Given the description of an element on the screen output the (x, y) to click on. 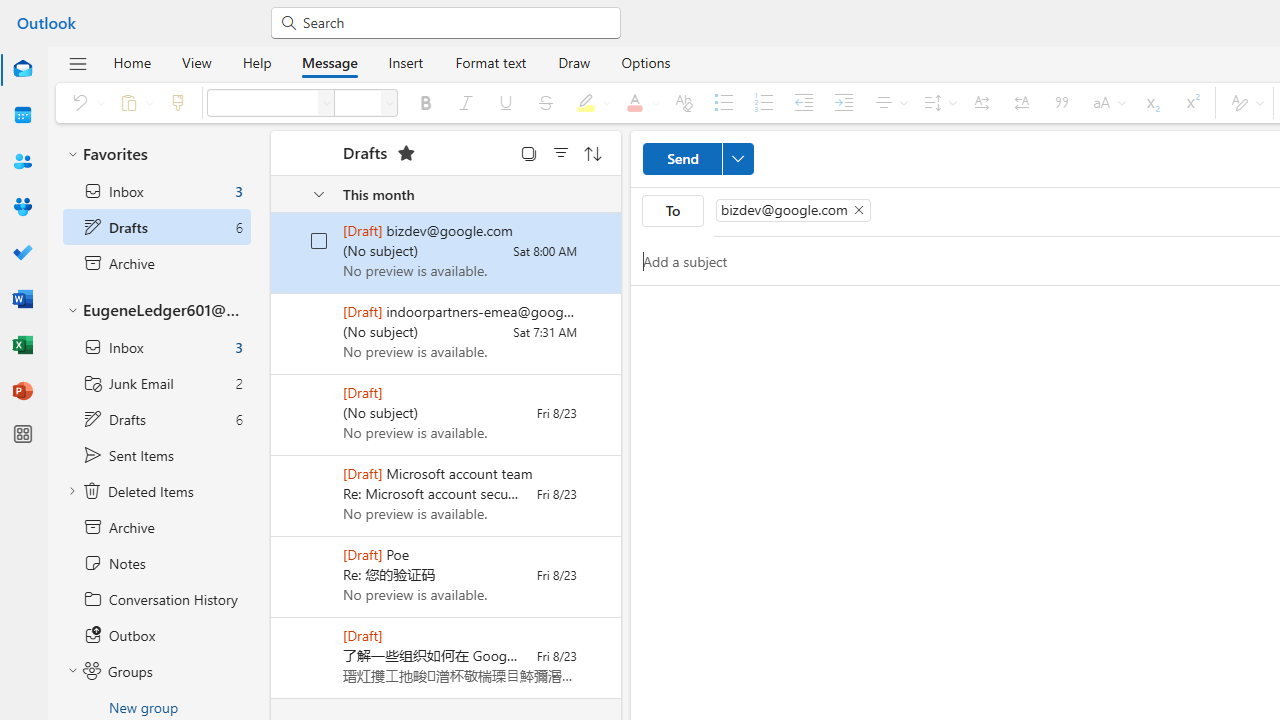
To Do (22, 254)
Insert (405, 61)
Groups (22, 207)
More send options (737, 158)
PowerPoint (22, 391)
Bullets (723, 102)
Word (22, 299)
View (196, 61)
Font (326, 102)
Groups (156, 671)
Drafts selected 6 items (156, 226)
Drafts 6 items (156, 419)
Numbering (763, 102)
